Given the description of an element on the screen output the (x, y) to click on. 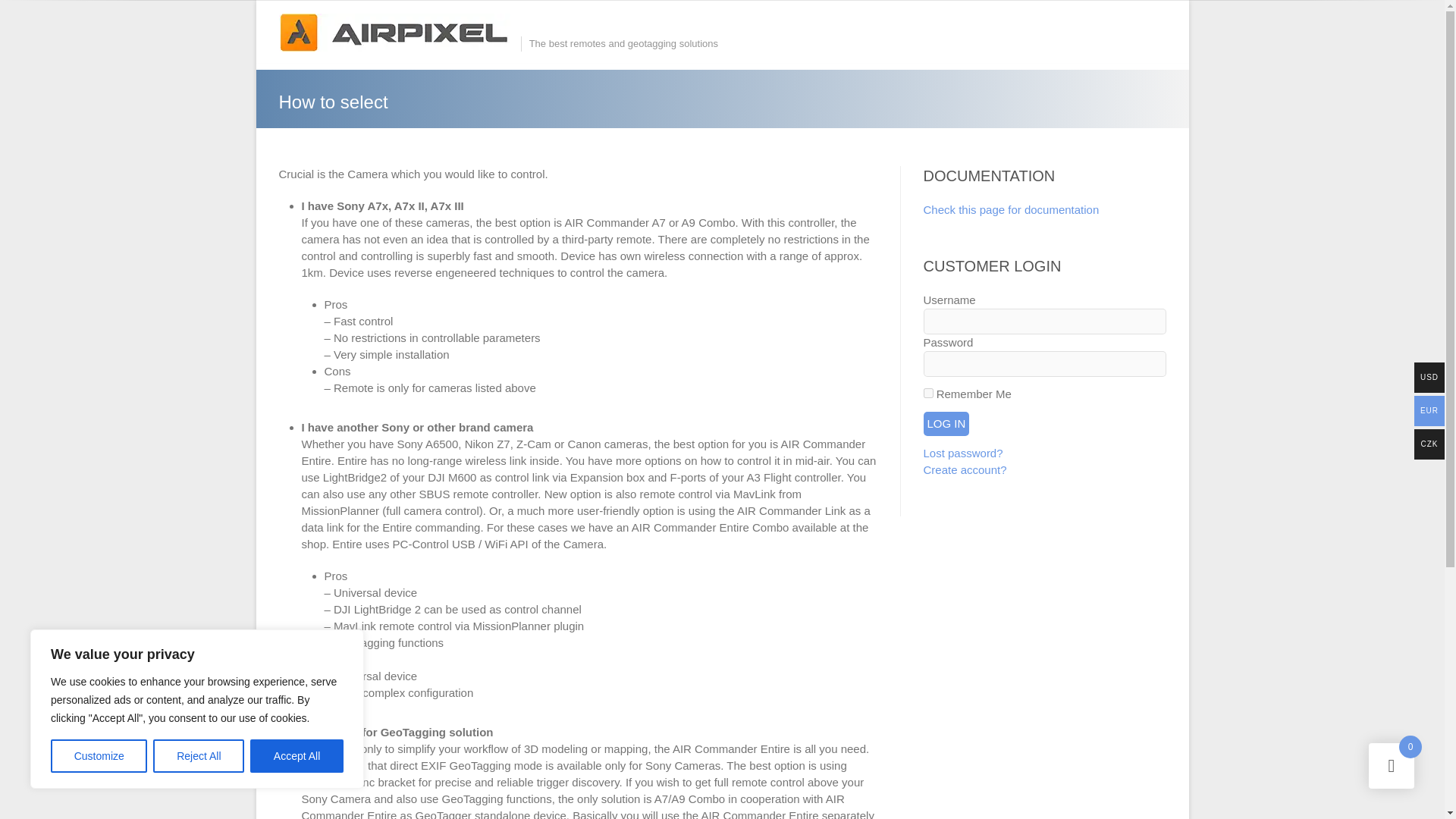
Reject All (198, 756)
Log In (946, 423)
Customize (98, 756)
forever (928, 393)
AirPixel.cz (398, 32)
Accept All (296, 756)
